Given the description of an element on the screen output the (x, y) to click on. 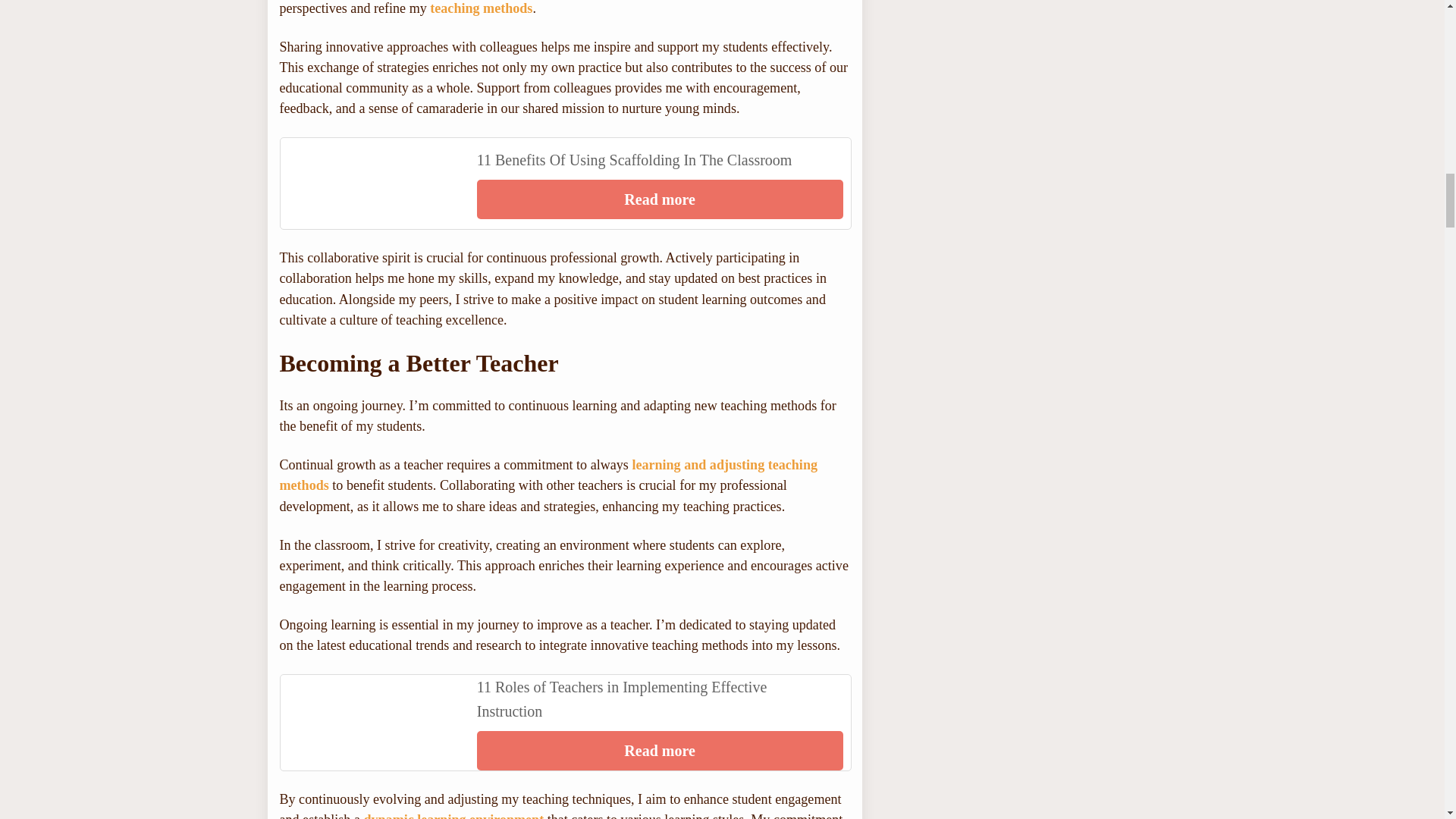
teaching methods (564, 183)
dynamic learning environment (480, 7)
learning and adjusting teaching methods (452, 815)
